Given the description of an element on the screen output the (x, y) to click on. 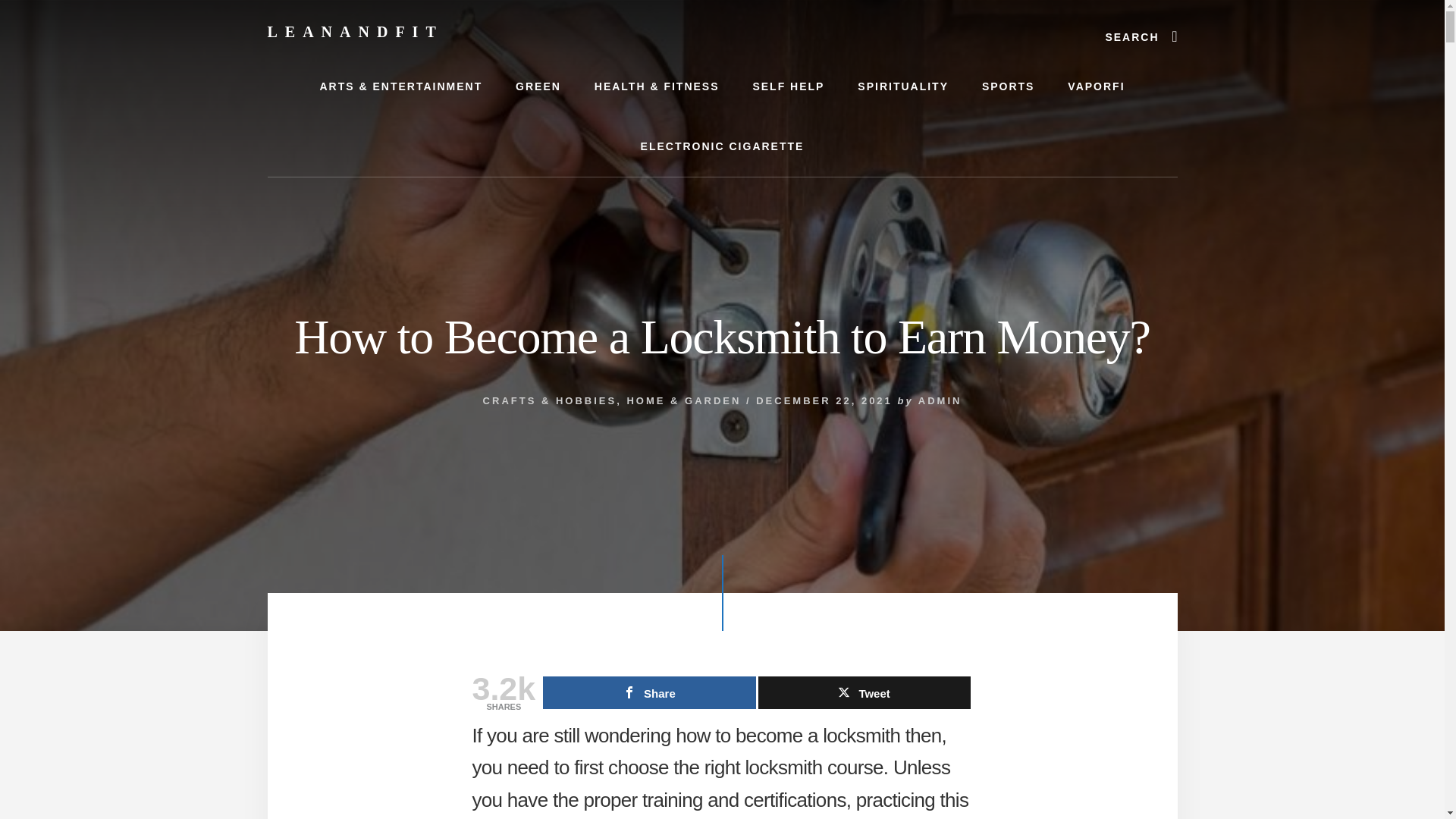
LEANANDFIT (354, 31)
GREEN (538, 86)
